Given the description of an element on the screen output the (x, y) to click on. 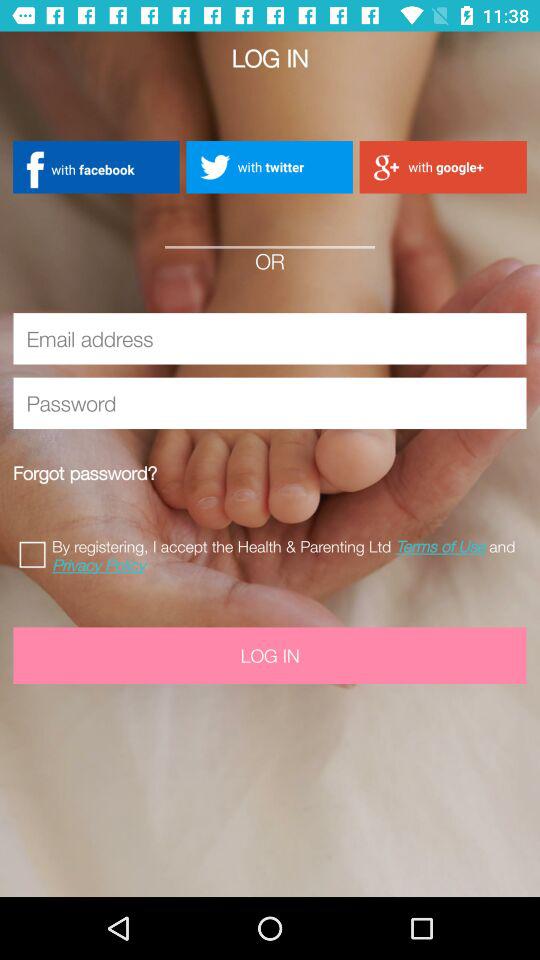
email address icon (269, 338)
